Given the description of an element on the screen output the (x, y) to click on. 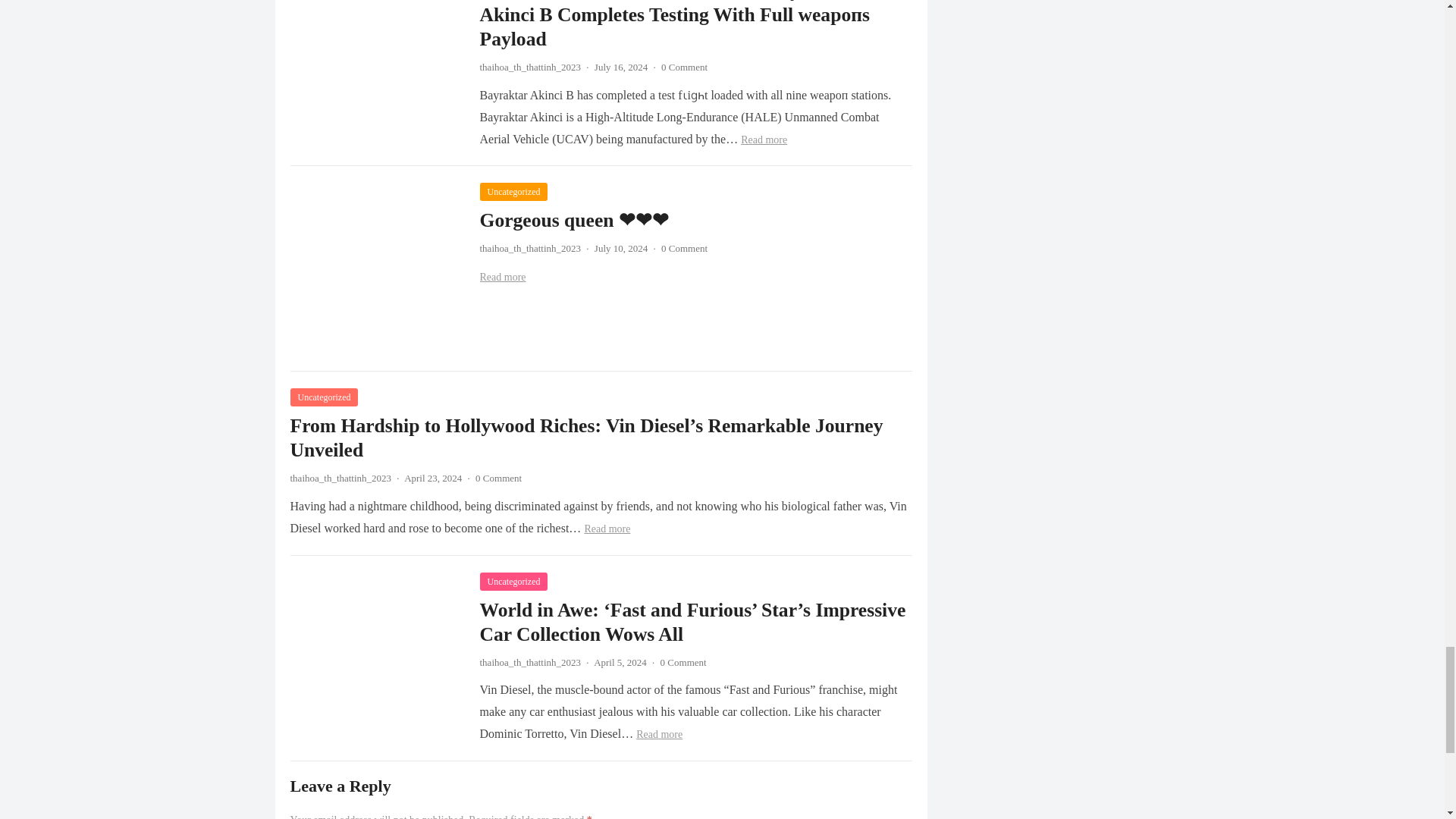
0 Comment (684, 66)
Uncategorized (513, 191)
Read more (764, 139)
